Given the description of an element on the screen output the (x, y) to click on. 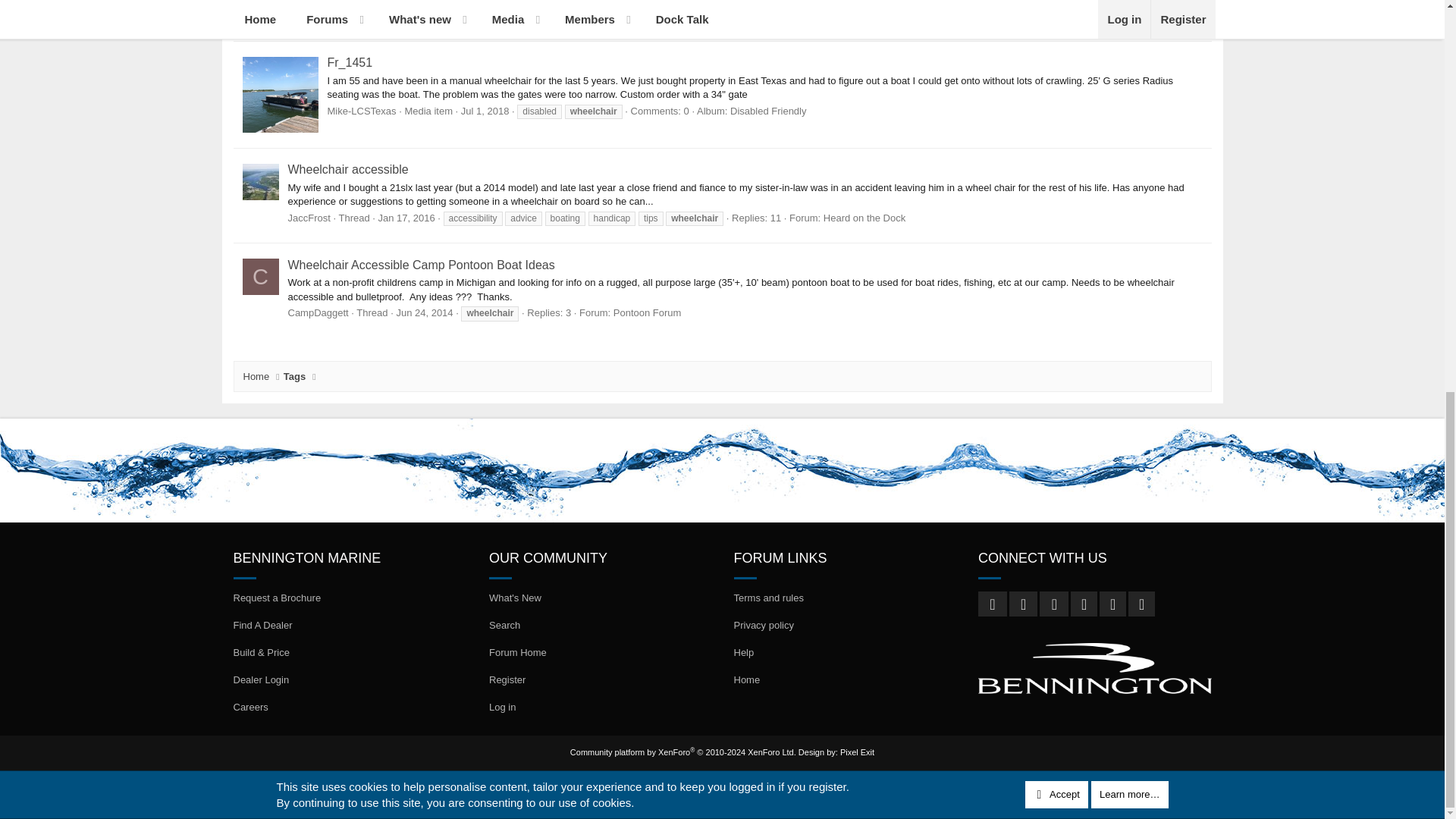
Jun 24, 2014 at 5:47 PM (424, 312)
Jan 17, 2016 at 3:41 PM (406, 217)
Jul 1, 2018 at 12:10 AM (485, 111)
